Given the description of an element on the screen output the (x, y) to click on. 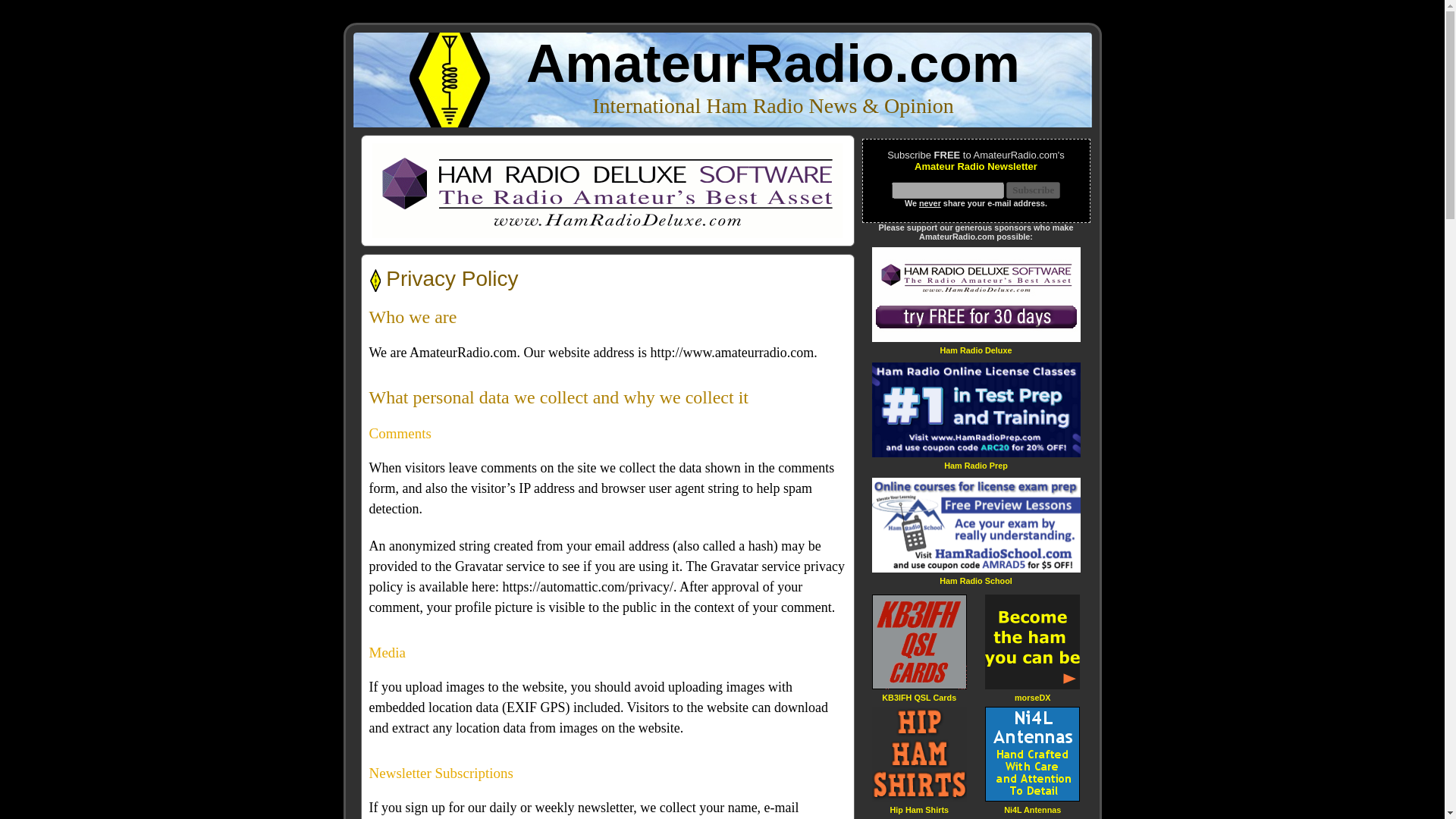
Subscribe (1032, 190)
Ni4L Antennas (1032, 808)
Ham Radio Deluxe (975, 349)
KB3IFH QSL Cards (919, 696)
Ham Radio School (975, 580)
AmateurRadio.com (772, 63)
Ham Radio Prep (975, 464)
morseDX (1032, 696)
Privacy Policy (451, 278)
Hip Ham Shirts (919, 808)
Privacy Policy (451, 278)
Subscribe (1032, 190)
